Given the description of an element on the screen output the (x, y) to click on. 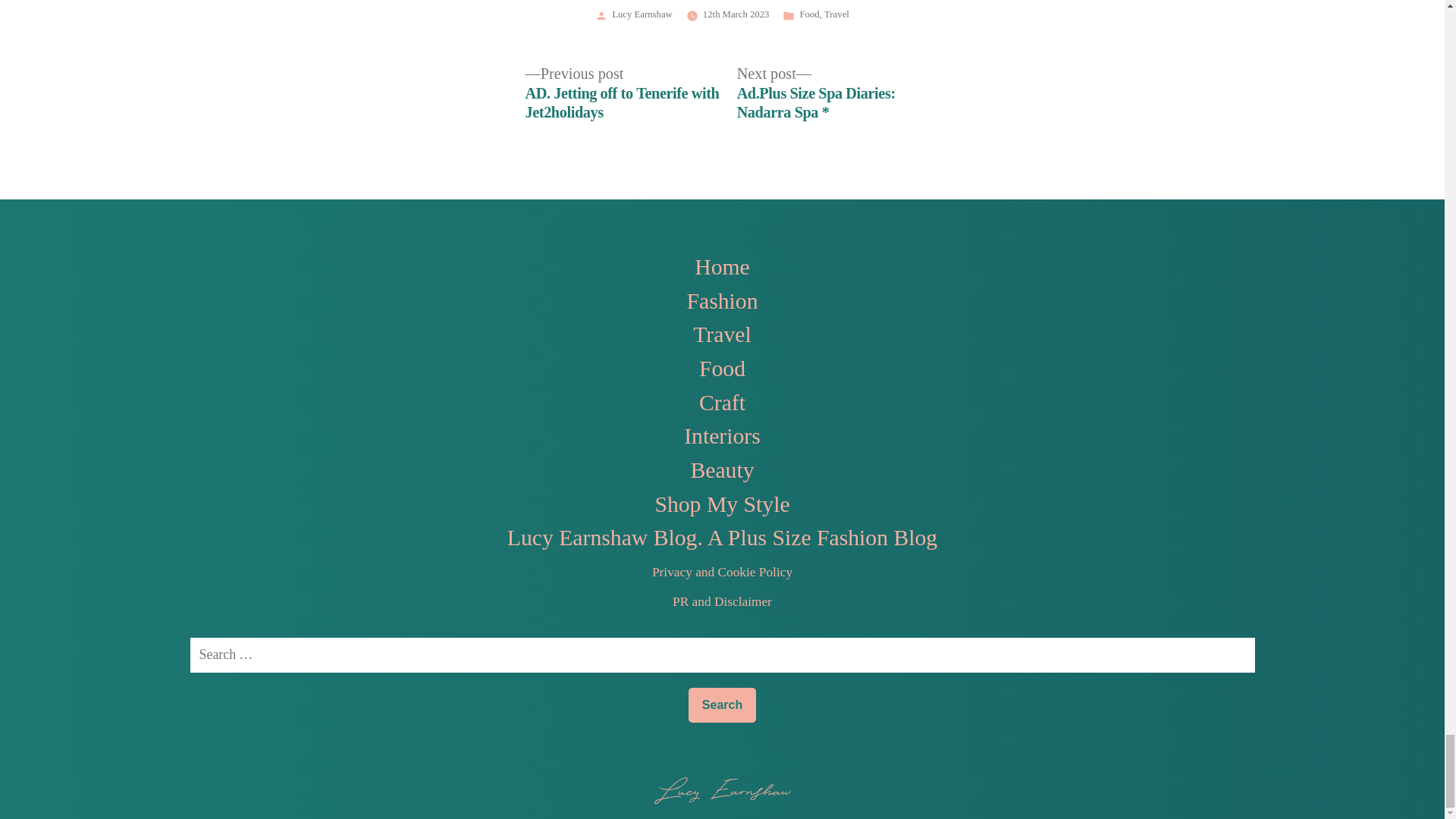
12th March 2023 (736, 14)
Food (808, 14)
Search (721, 705)
Lucy Earnshaw (641, 14)
Search (721, 705)
Travel (836, 14)
